Given the description of an element on the screen output the (x, y) to click on. 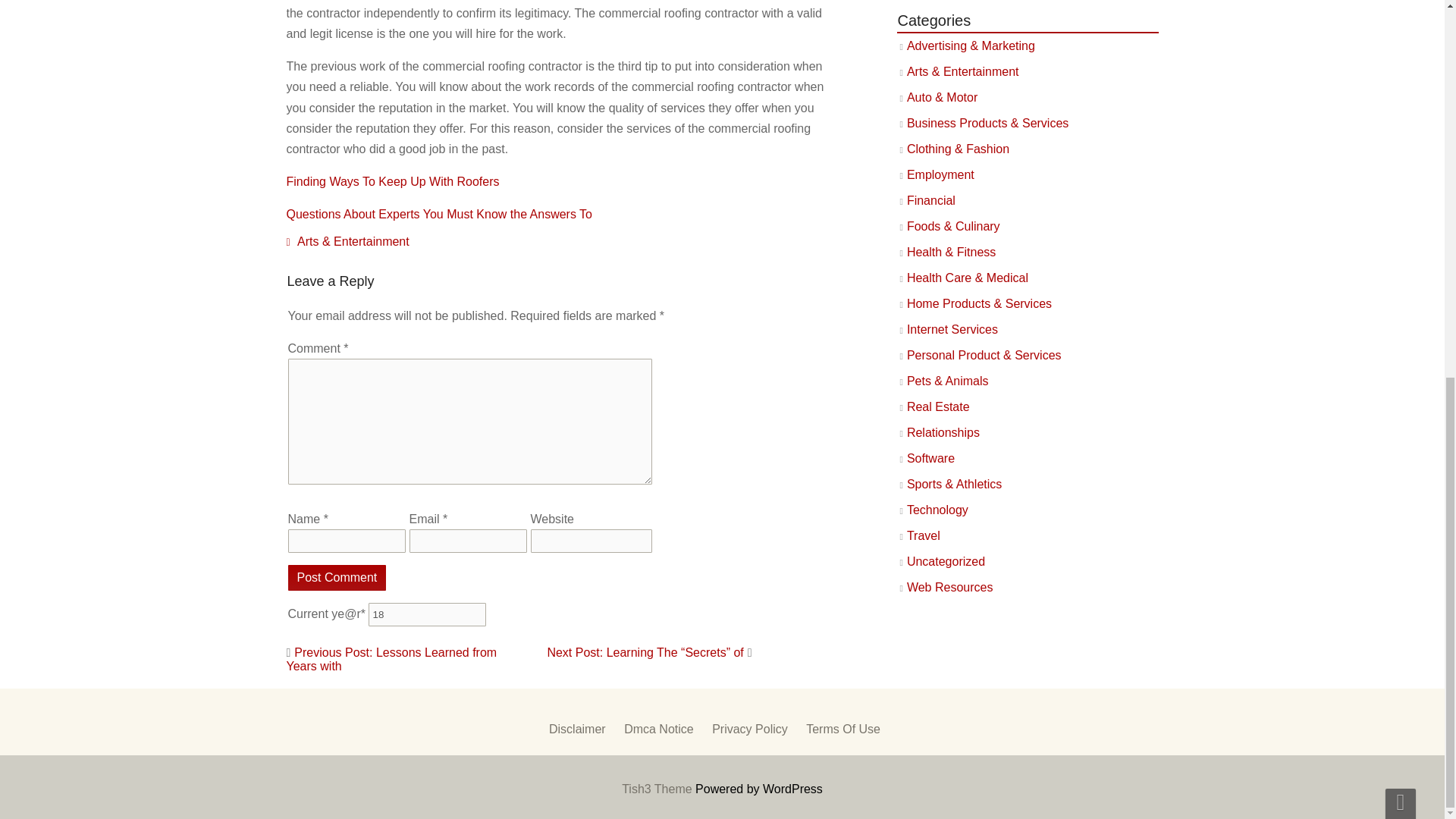
Post Comment (337, 577)
18 (427, 614)
Finding Ways To Keep Up With Roofers (392, 181)
Questions About Experts You Must Know the Answers To (439, 214)
Post Comment (337, 577)
Tish3 Theme (658, 788)
Previous Post: Lessons Learned from Years with (391, 659)
